Given the description of an element on the screen output the (x, y) to click on. 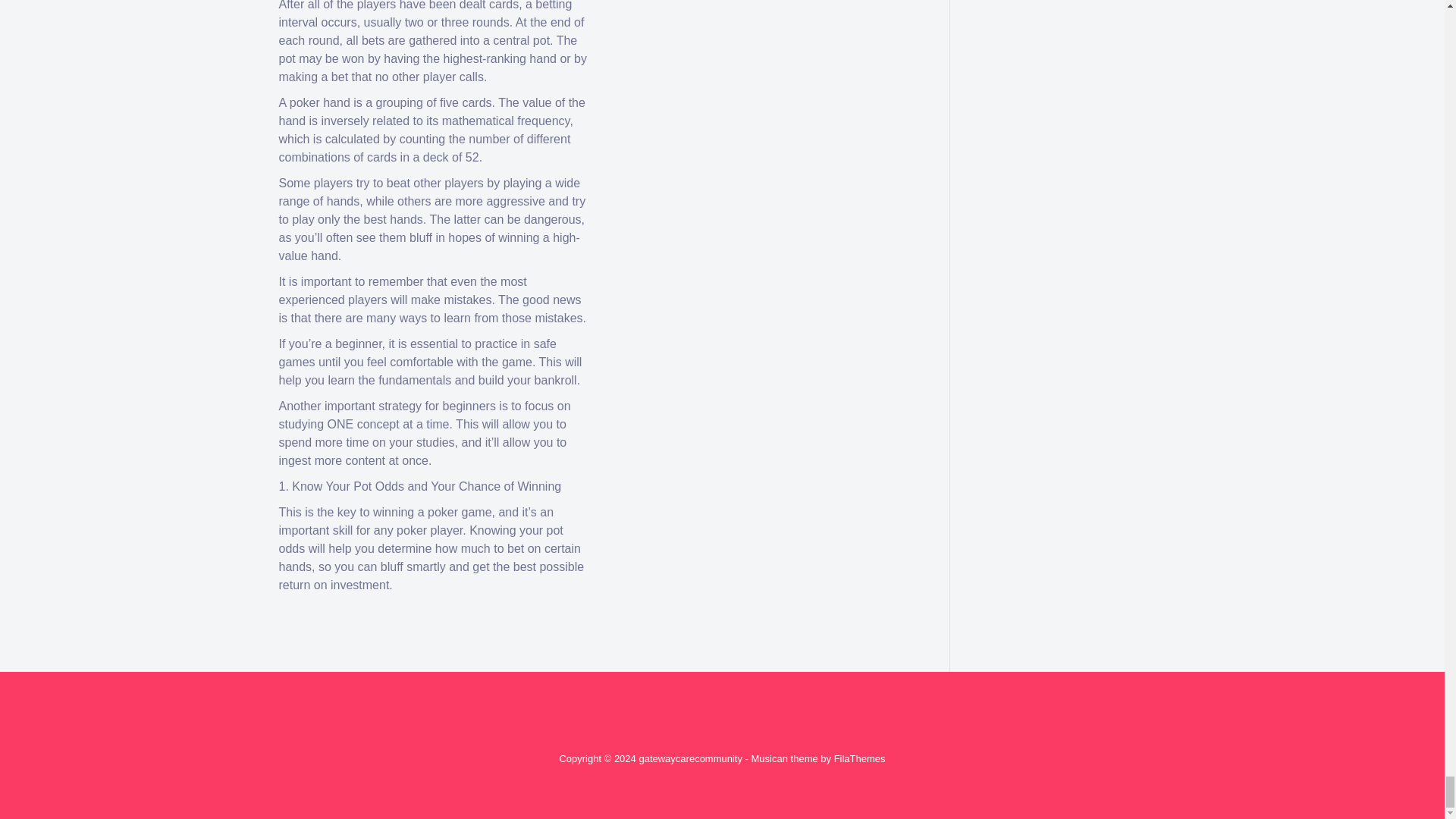
gatewaycarecommunity (690, 758)
